Given the description of an element on the screen output the (x, y) to click on. 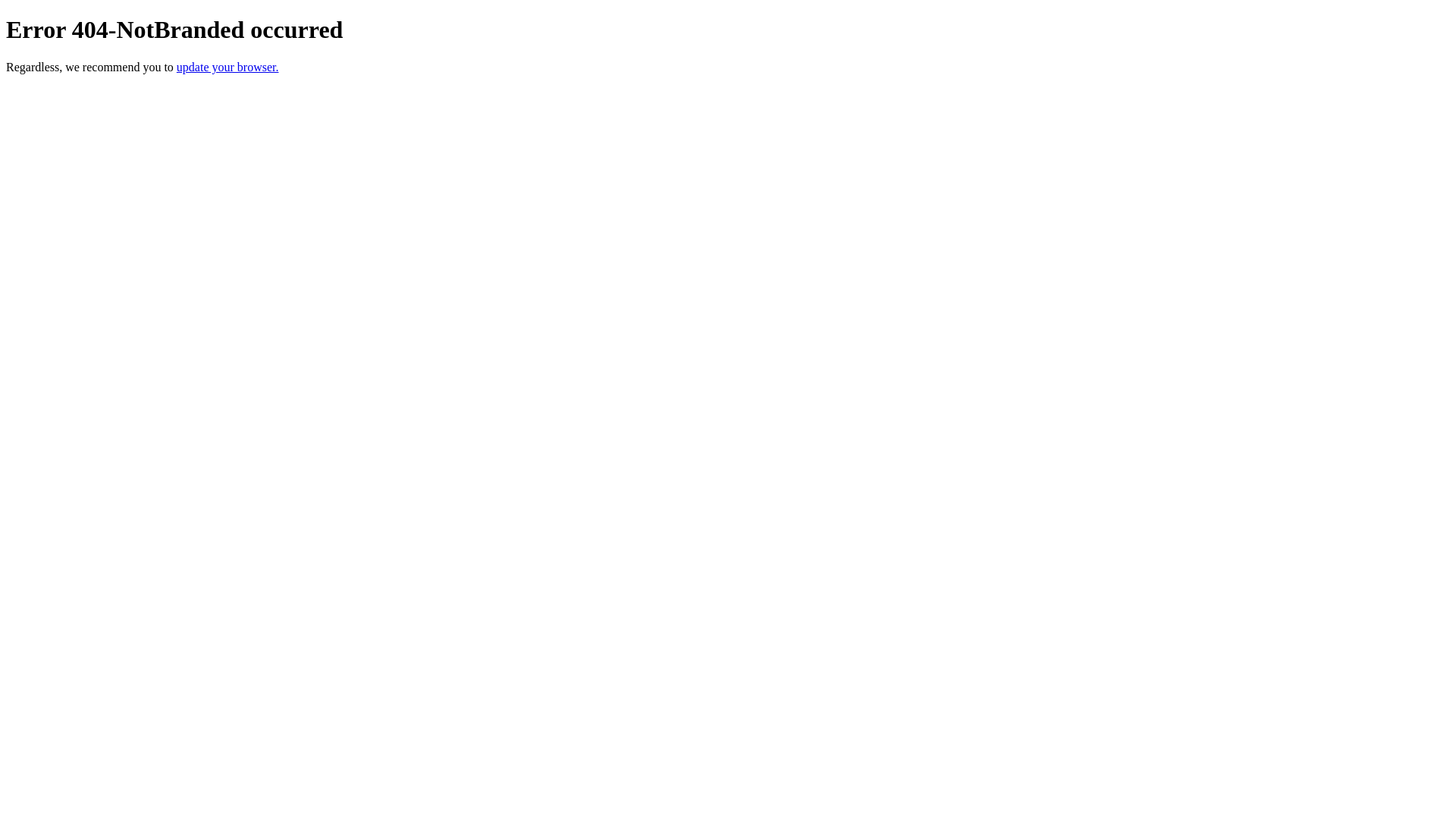
update your browser. Element type: text (227, 66)
